Given the description of an element on the screen output the (x, y) to click on. 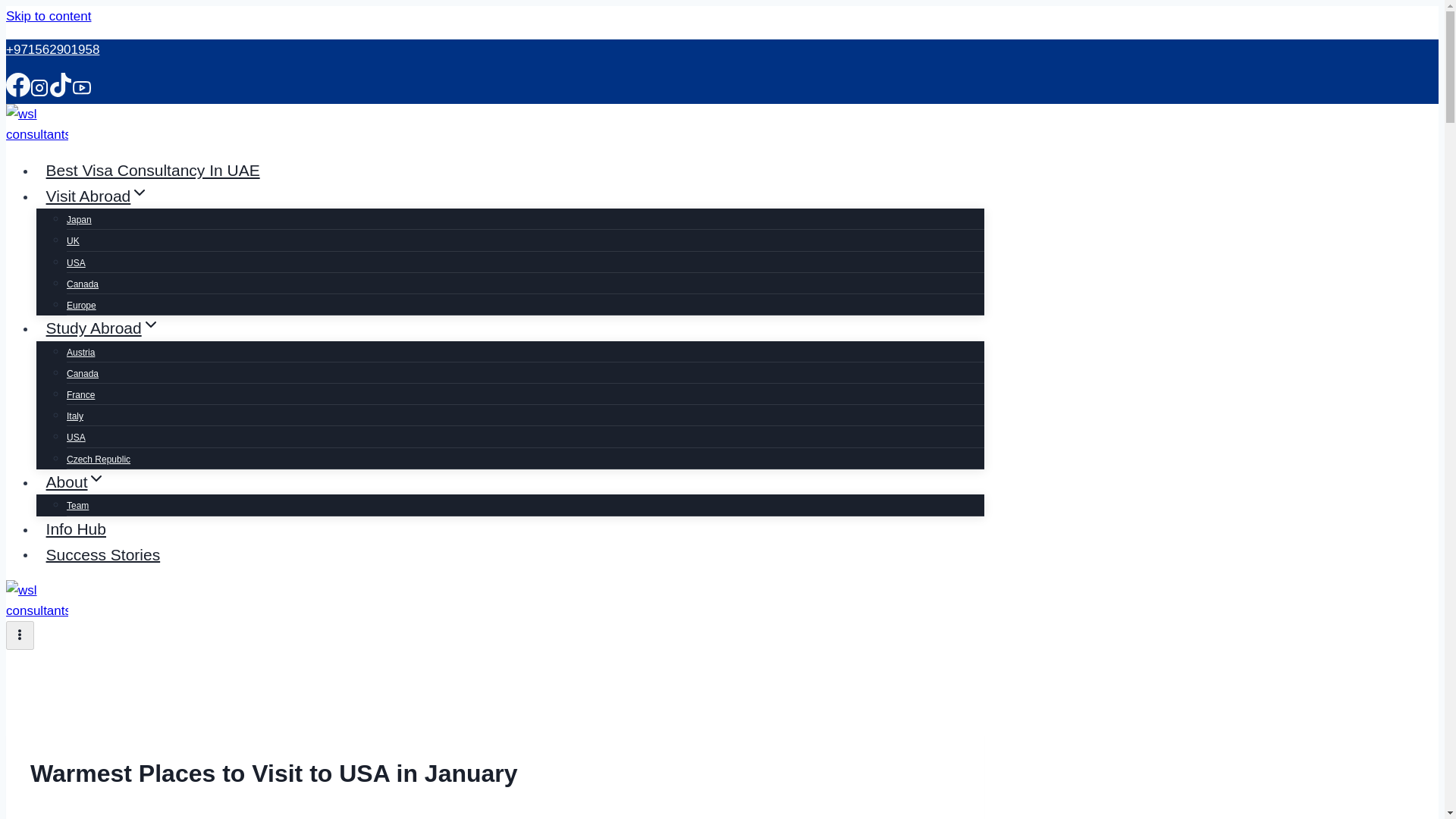
Visit AbroadExpand (97, 195)
Facebook (17, 84)
Austria (80, 352)
YouTube (81, 92)
Canada (82, 284)
Info Hub (76, 528)
Skip to content (47, 16)
Toggle Menu (19, 635)
Toggle Menu (19, 634)
TikTok (60, 84)
Instagram (39, 87)
France (80, 394)
Best Visa Consultancy In UAE (152, 169)
Expand (150, 324)
Europe (81, 305)
